Given the description of an element on the screen output the (x, y) to click on. 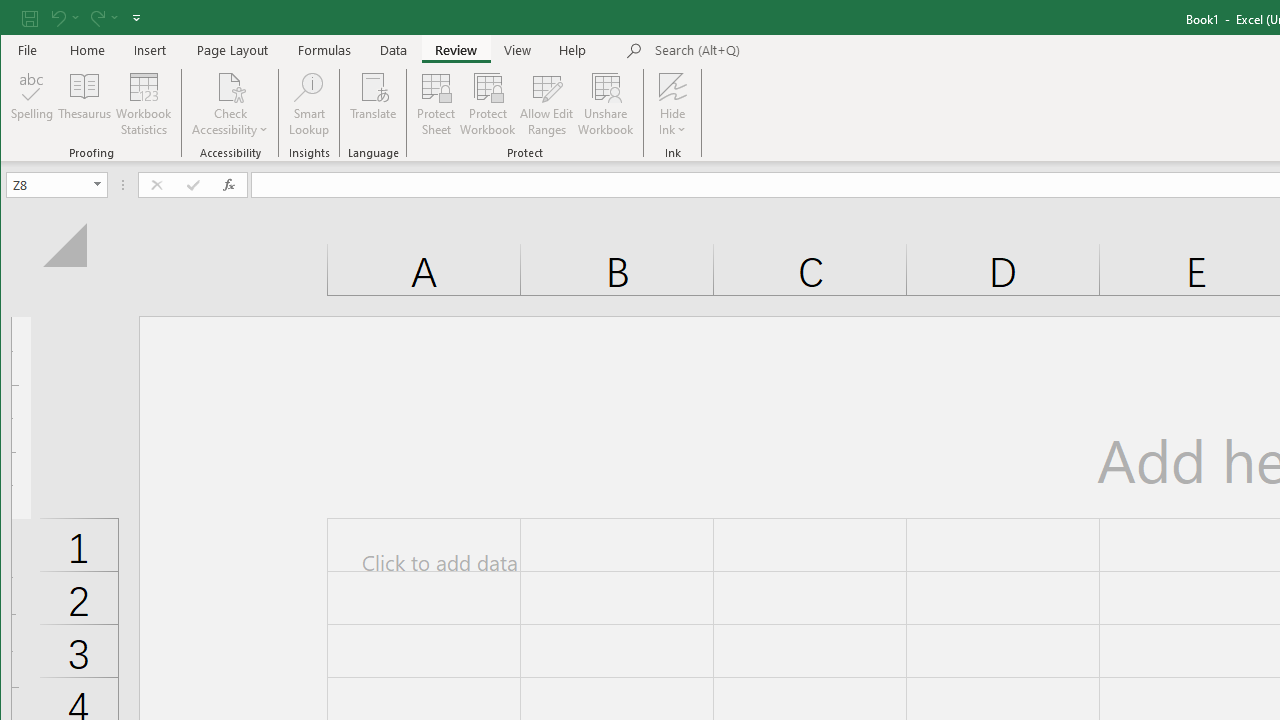
Protect Sheet... (436, 104)
